Given the description of an element on the screen output the (x, y) to click on. 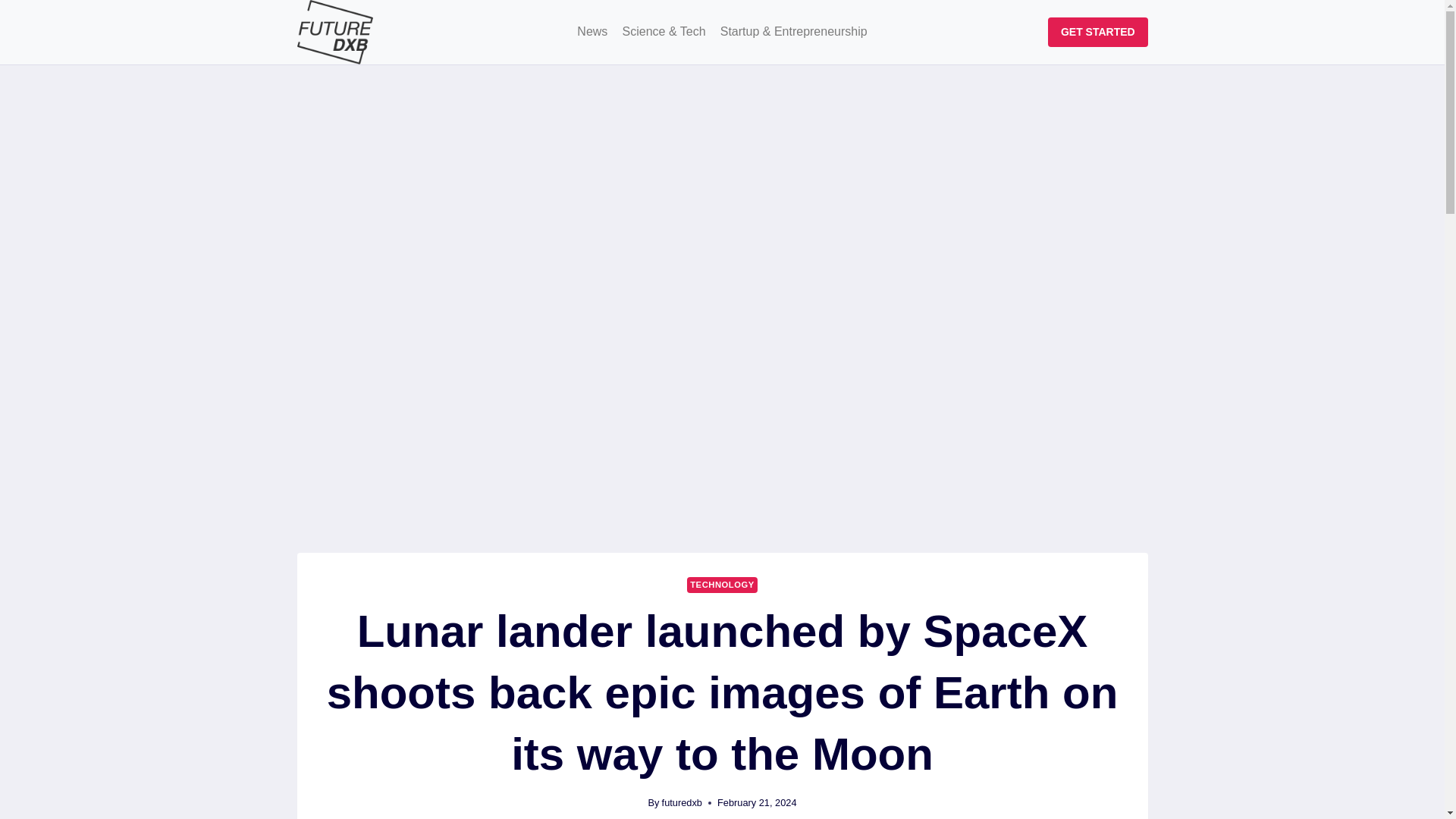
GET STARTED (1097, 31)
News (592, 32)
TECHNOLOGY (722, 584)
futuredxb (681, 802)
